Given the description of an element on the screen output the (x, y) to click on. 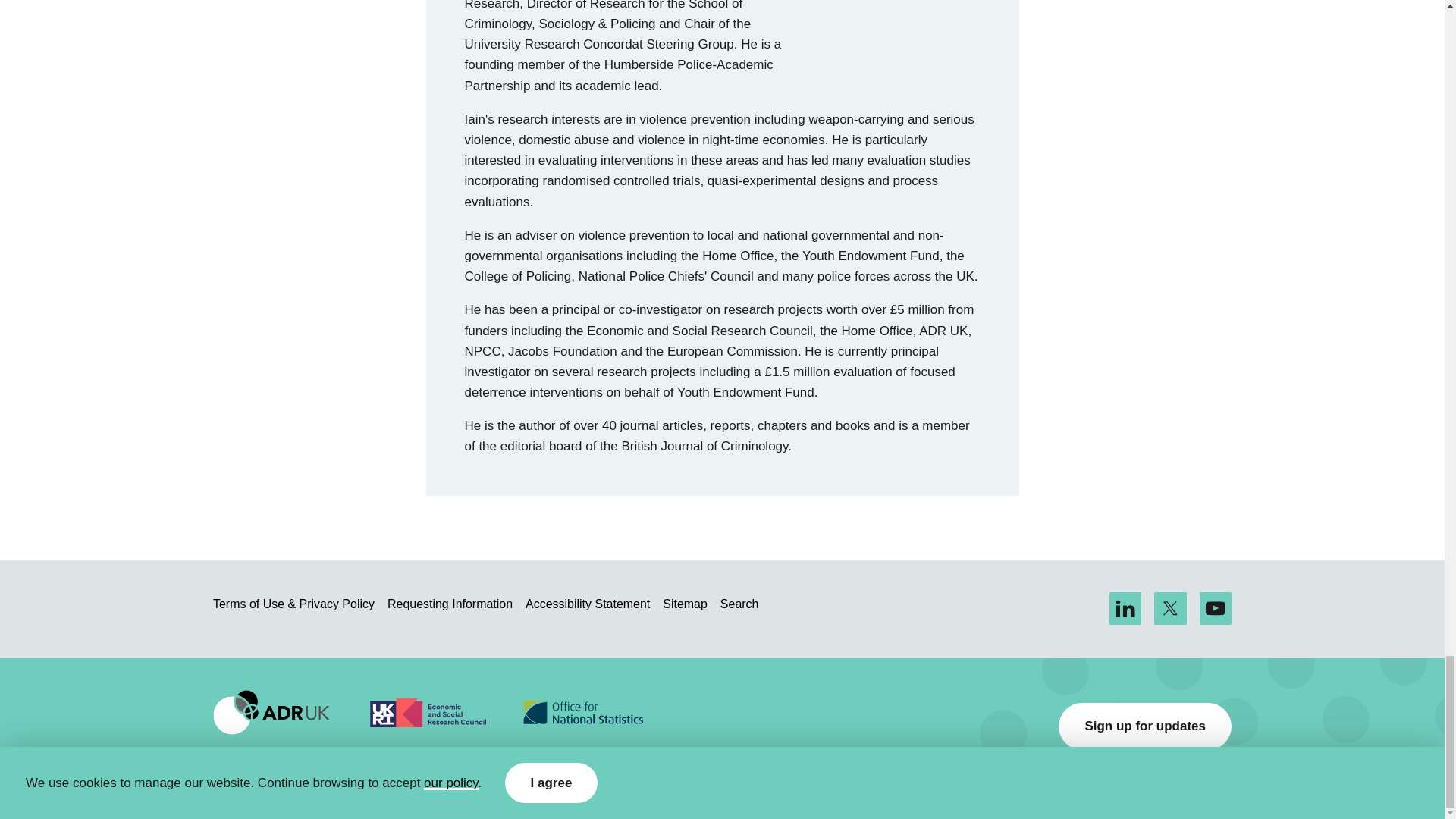
ADR UK on LinkedIn (1124, 608)
Requesting Information (449, 604)
Accessibility Statement (587, 604)
Requesting Information (449, 604)
Search (739, 604)
Search (739, 604)
Sign up for updates (1144, 725)
Sitemap (684, 604)
Sitemap (684, 604)
Accessibility Statement (587, 604)
